Given the description of an element on the screen output the (x, y) to click on. 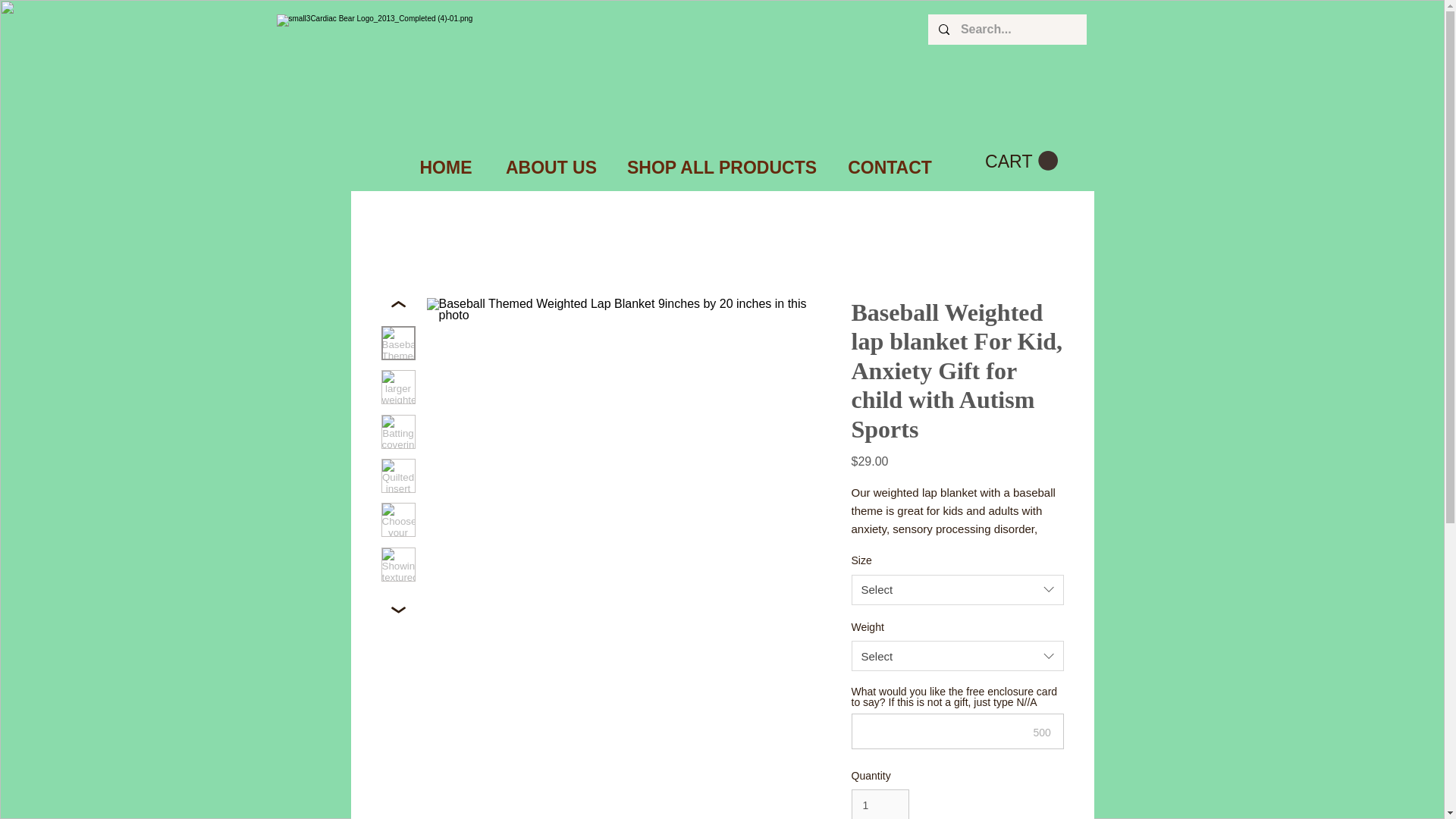
CART (1020, 160)
ABOUT US (550, 167)
HOME (445, 167)
Select (956, 589)
1 (879, 804)
SHOP ALL PRODUCTS (720, 167)
Select (956, 655)
CART (1020, 160)
CONTACT (889, 167)
